Given the description of an element on the screen output the (x, y) to click on. 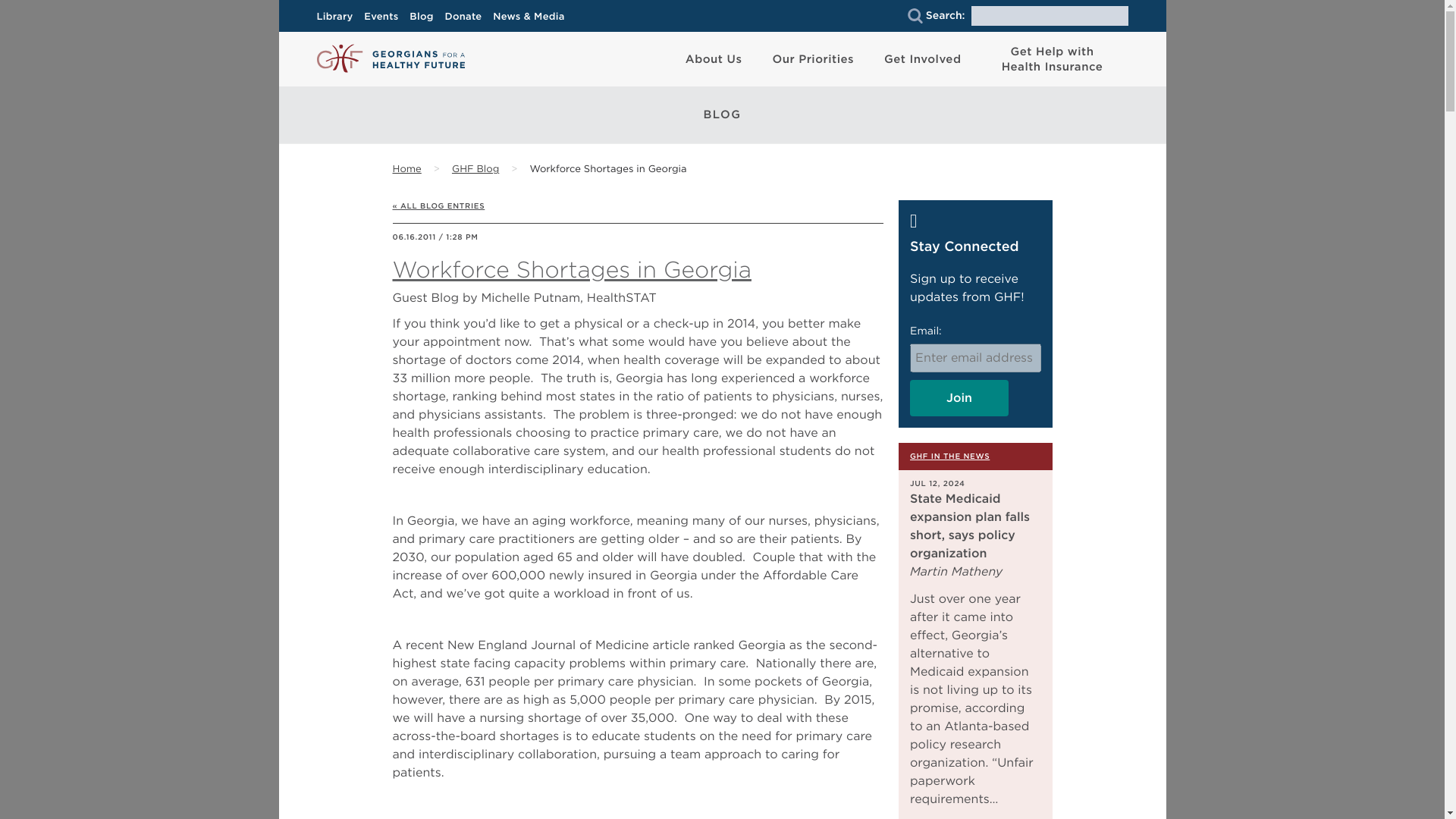
Category Name (475, 169)
Blog (425, 16)
Events (385, 16)
Workforce Shortages in Georgia (607, 169)
Donate (467, 16)
Library (339, 16)
